Given the description of an element on the screen output the (x, y) to click on. 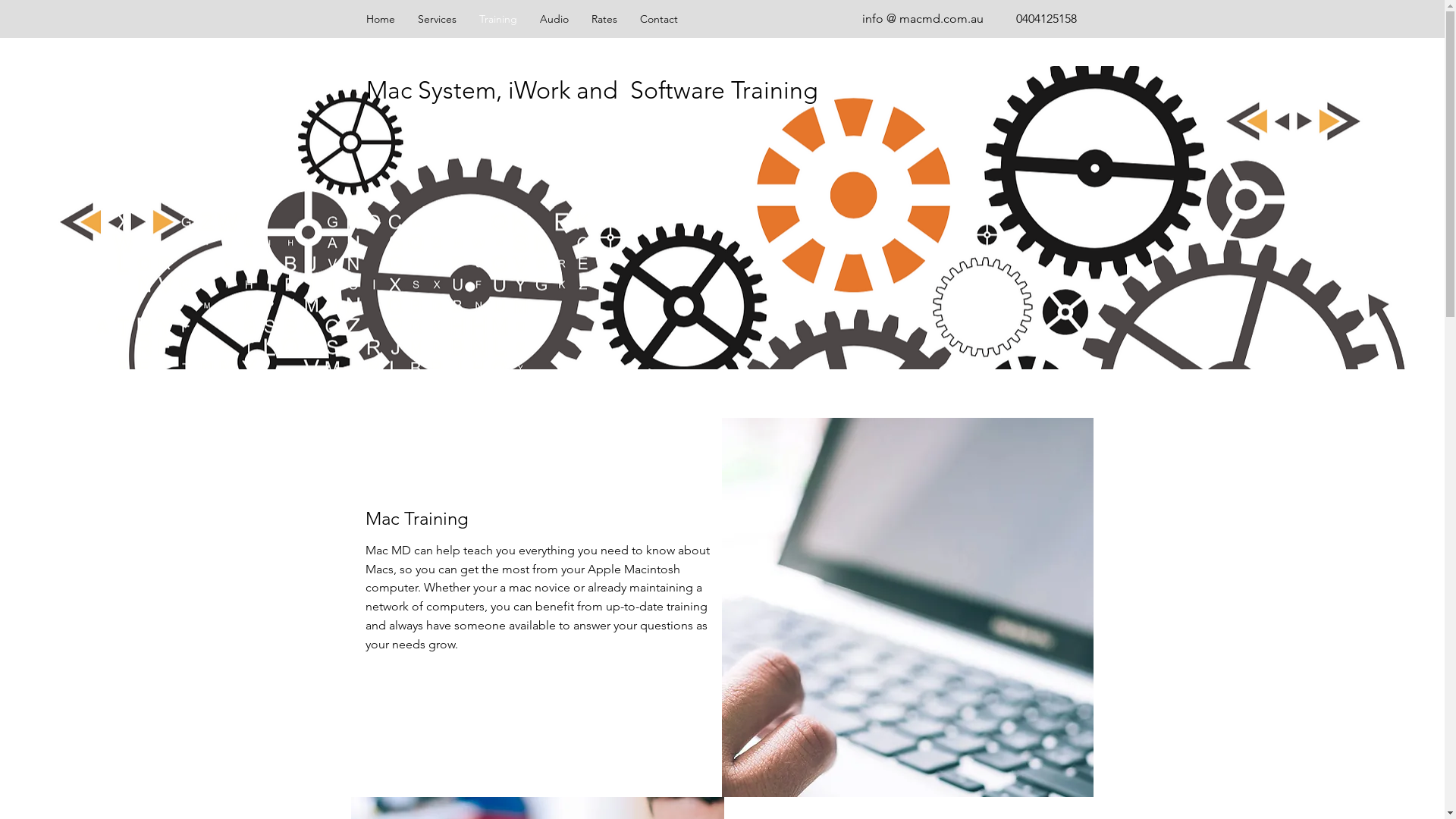
Training Element type: text (497, 18)
Home Element type: text (380, 18)
Audio Element type: text (553, 18)
Services Element type: text (436, 18)
Rates Element type: text (603, 18)
Typing Element type: hover (907, 607)
Contact Element type: text (657, 18)
